Given the description of an element on the screen output the (x, y) to click on. 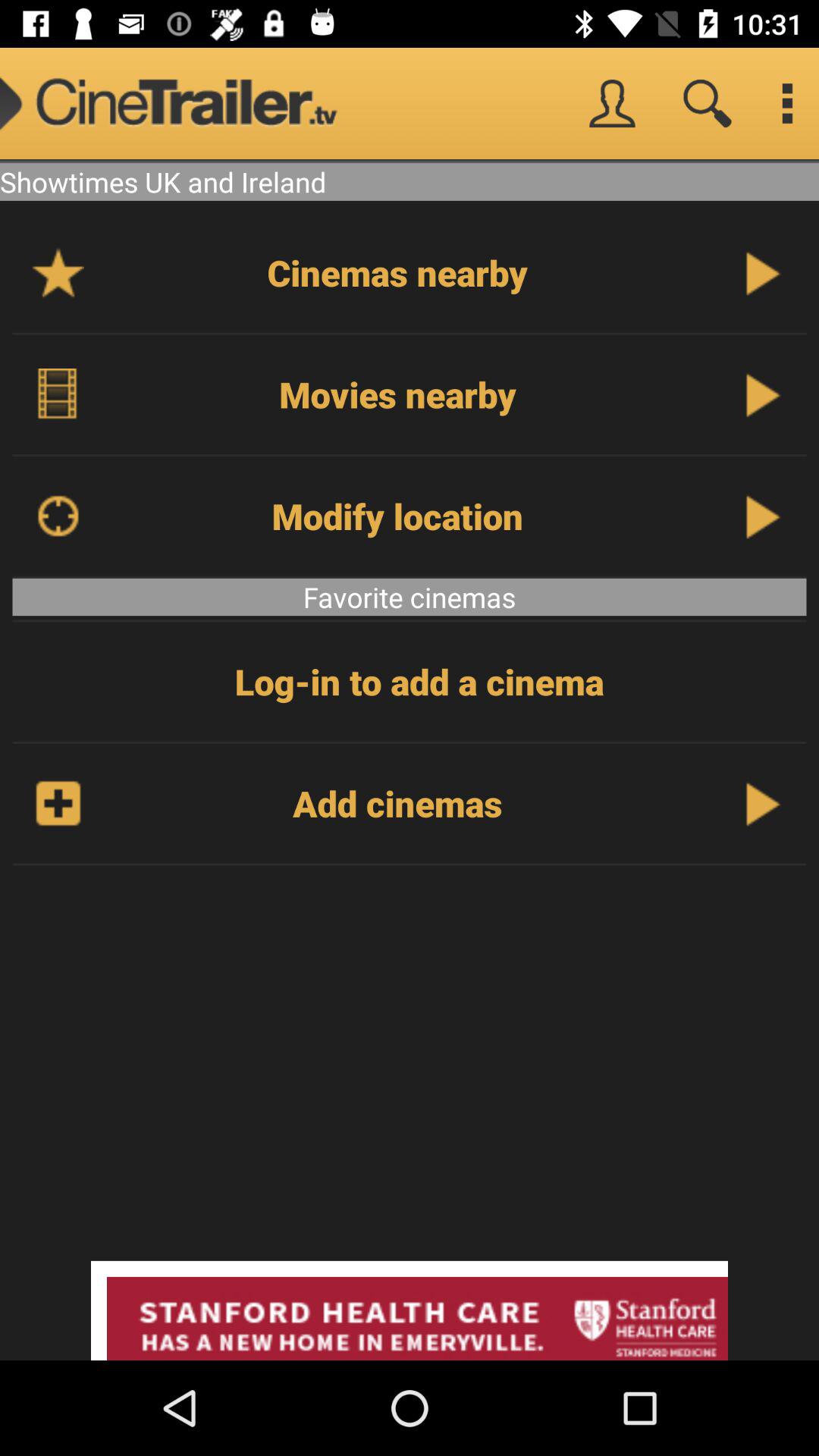
go to setting (787, 103)
